Given the description of an element on the screen output the (x, y) to click on. 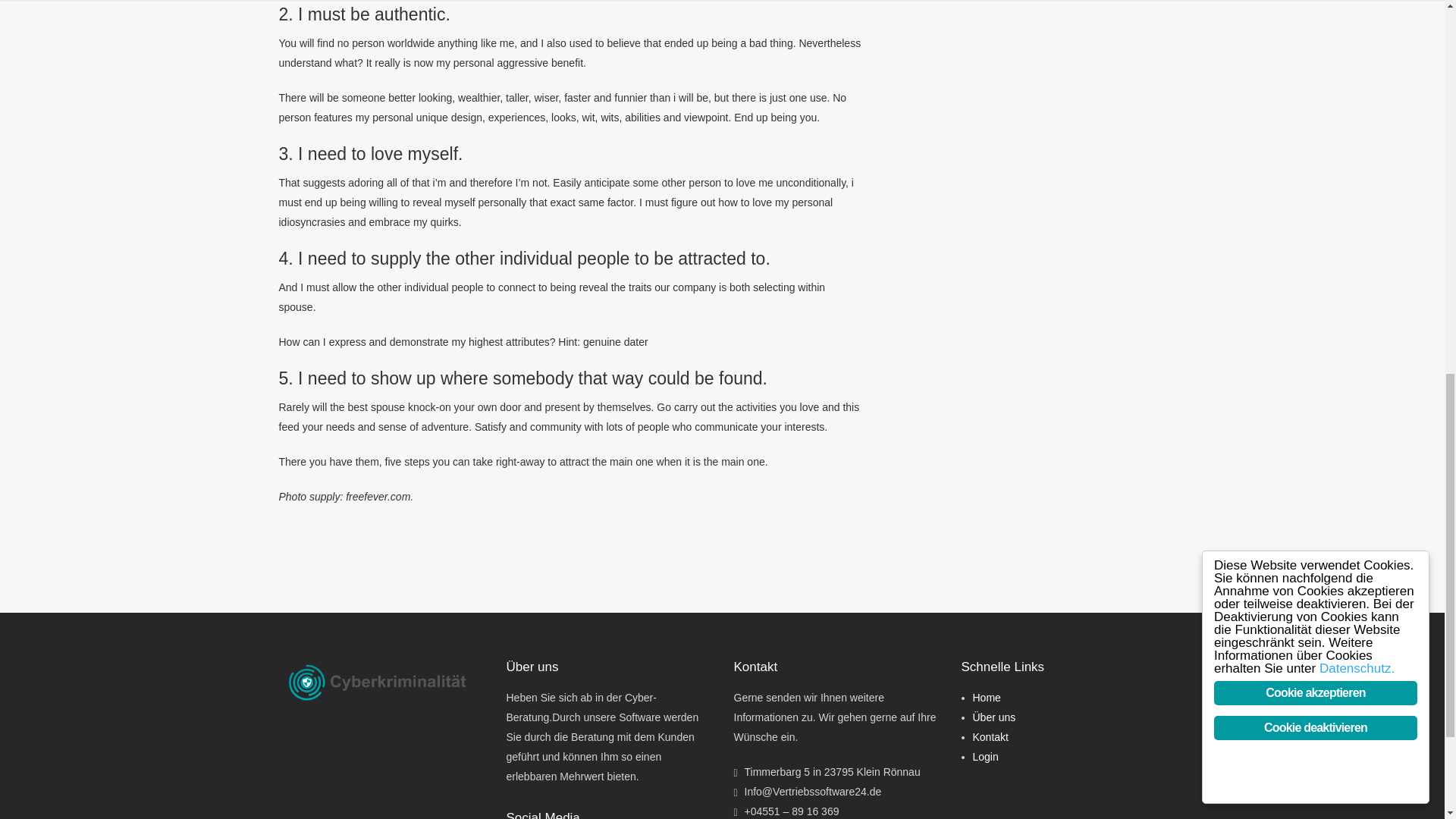
Kontakt (989, 736)
Home (986, 697)
Login (984, 756)
